Given the description of an element on the screen output the (x, y) to click on. 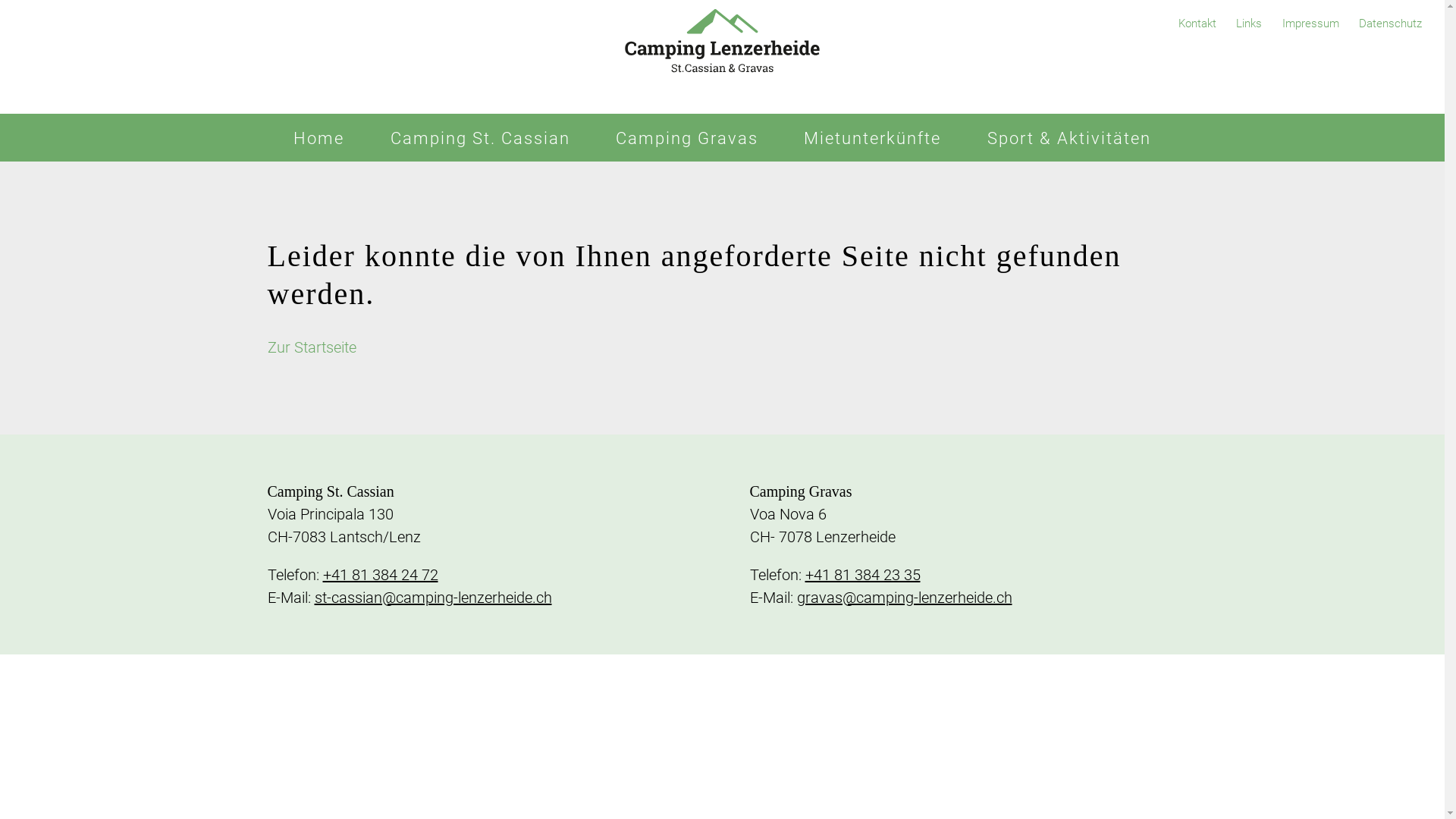
+41 81 384 24 72 Element type: text (380, 574)
Home Element type: text (318, 137)
Camping Gravas Element type: text (687, 137)
Datenschutz Element type: text (1389, 23)
Impressum Element type: text (1309, 23)
gravas@camping-lenzerheide.ch Element type: text (903, 597)
Camping Lenzerheide Element type: text (721, 56)
Links Element type: text (1248, 23)
st-cassian@camping-lenzerheide.ch Element type: text (432, 597)
Zur Startseite Element type: text (310, 347)
Camping St. Cassian Element type: text (480, 137)
Kontakt Element type: text (1197, 23)
+41 81 384 23 35 Element type: text (862, 574)
